Given the description of an element on the screen output the (x, y) to click on. 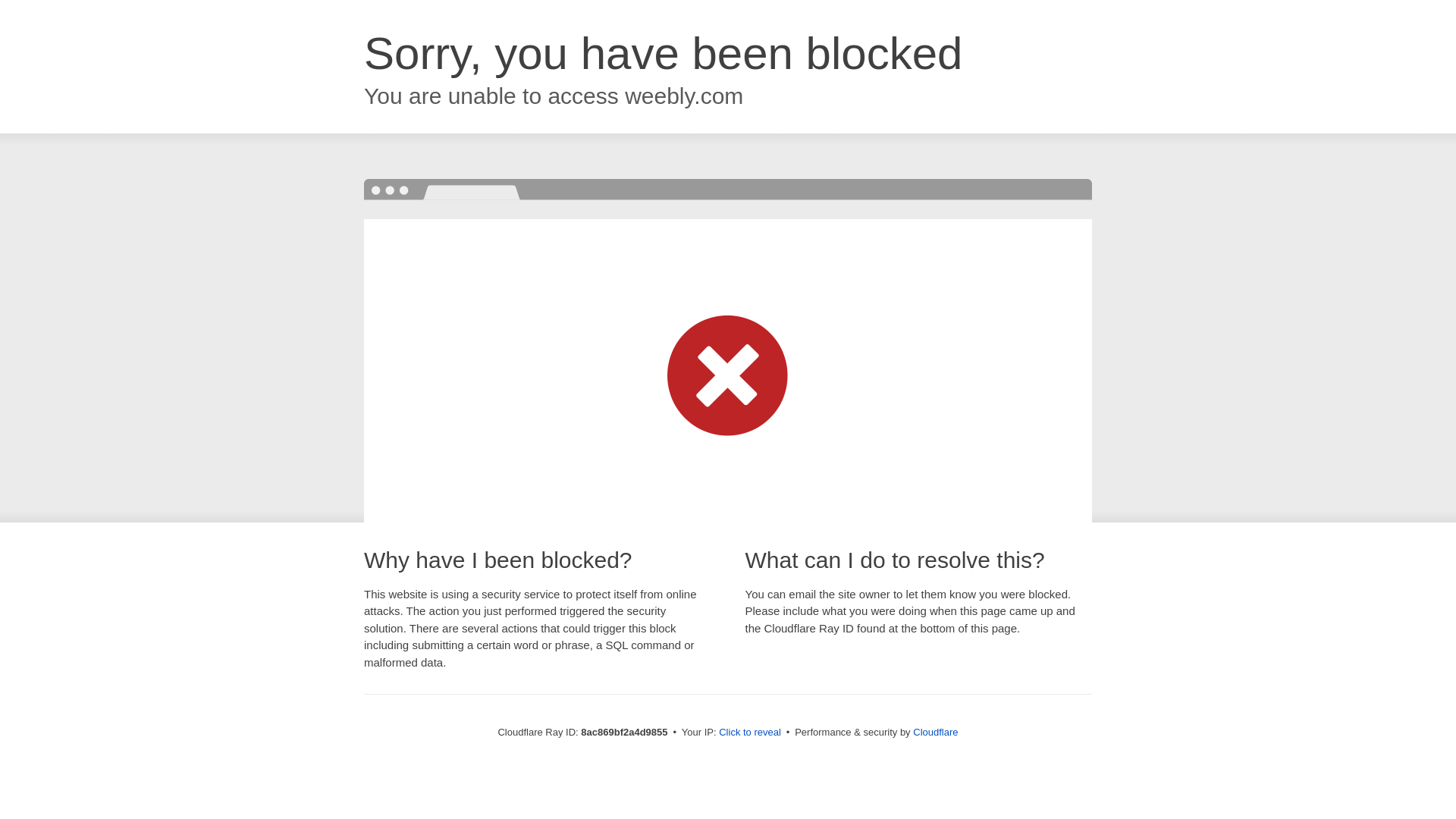
Cloudflare (935, 731)
Click to reveal (749, 732)
